Given the description of an element on the screen output the (x, y) to click on. 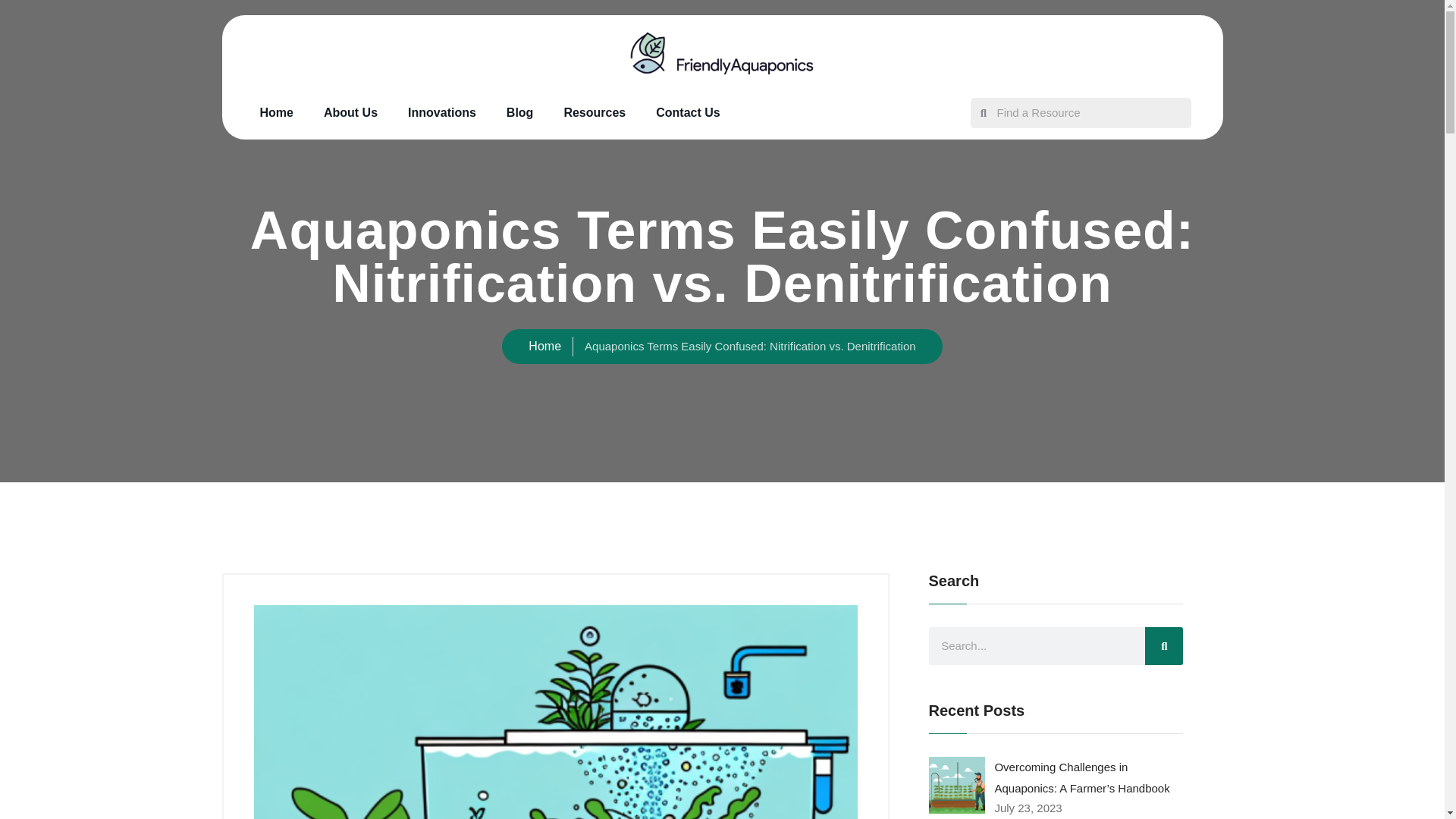
Home (544, 345)
Resources (594, 112)
About Us (350, 112)
Blog (520, 112)
Contact Us (687, 112)
Innovations (442, 112)
Home (275, 112)
